Given the description of an element on the screen output the (x, y) to click on. 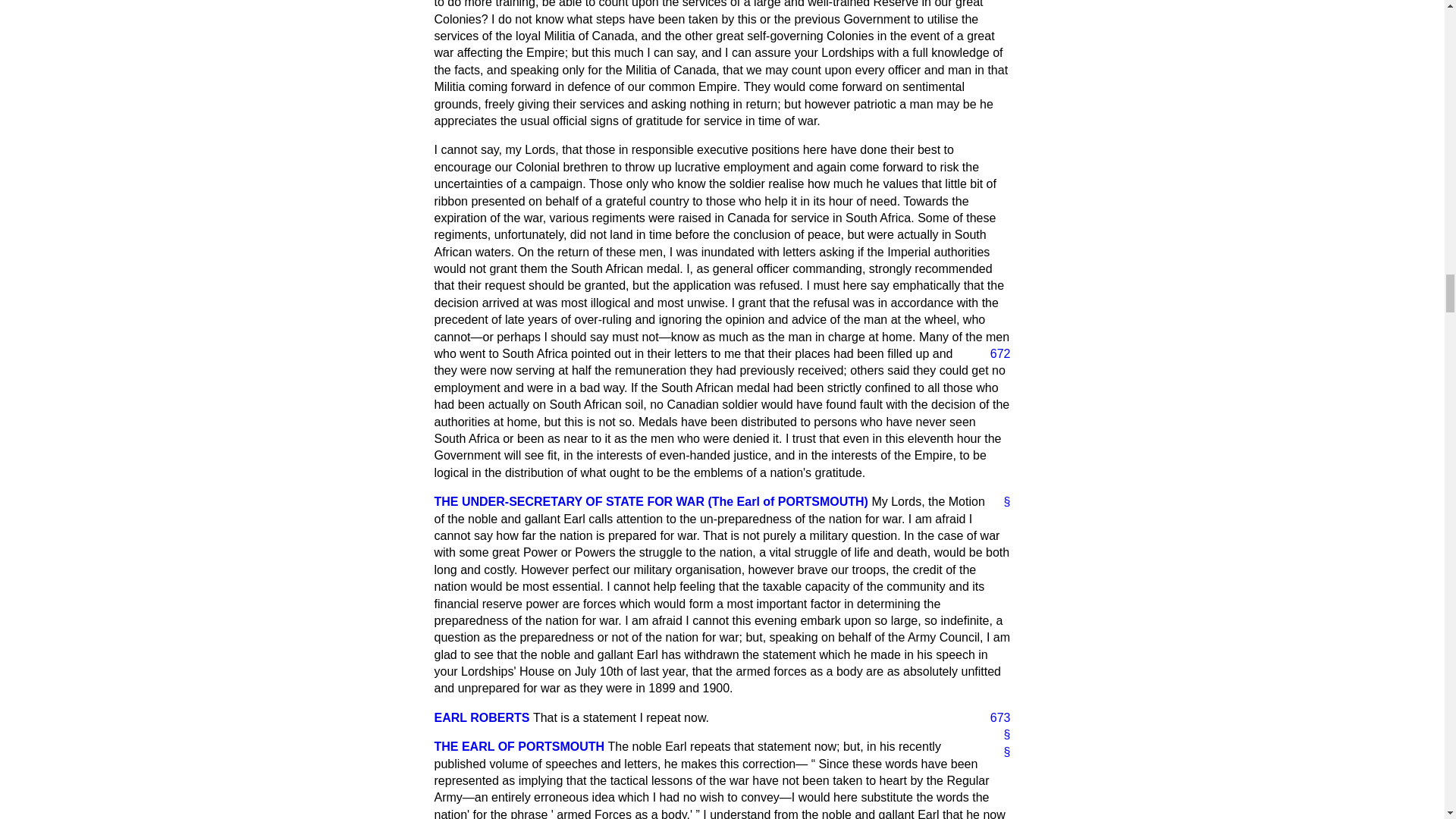
672 (994, 353)
673 (994, 718)
THE EARL OF PORTSMOUTH (518, 746)
EARL ROBERTS (481, 717)
